Given the description of an element on the screen output the (x, y) to click on. 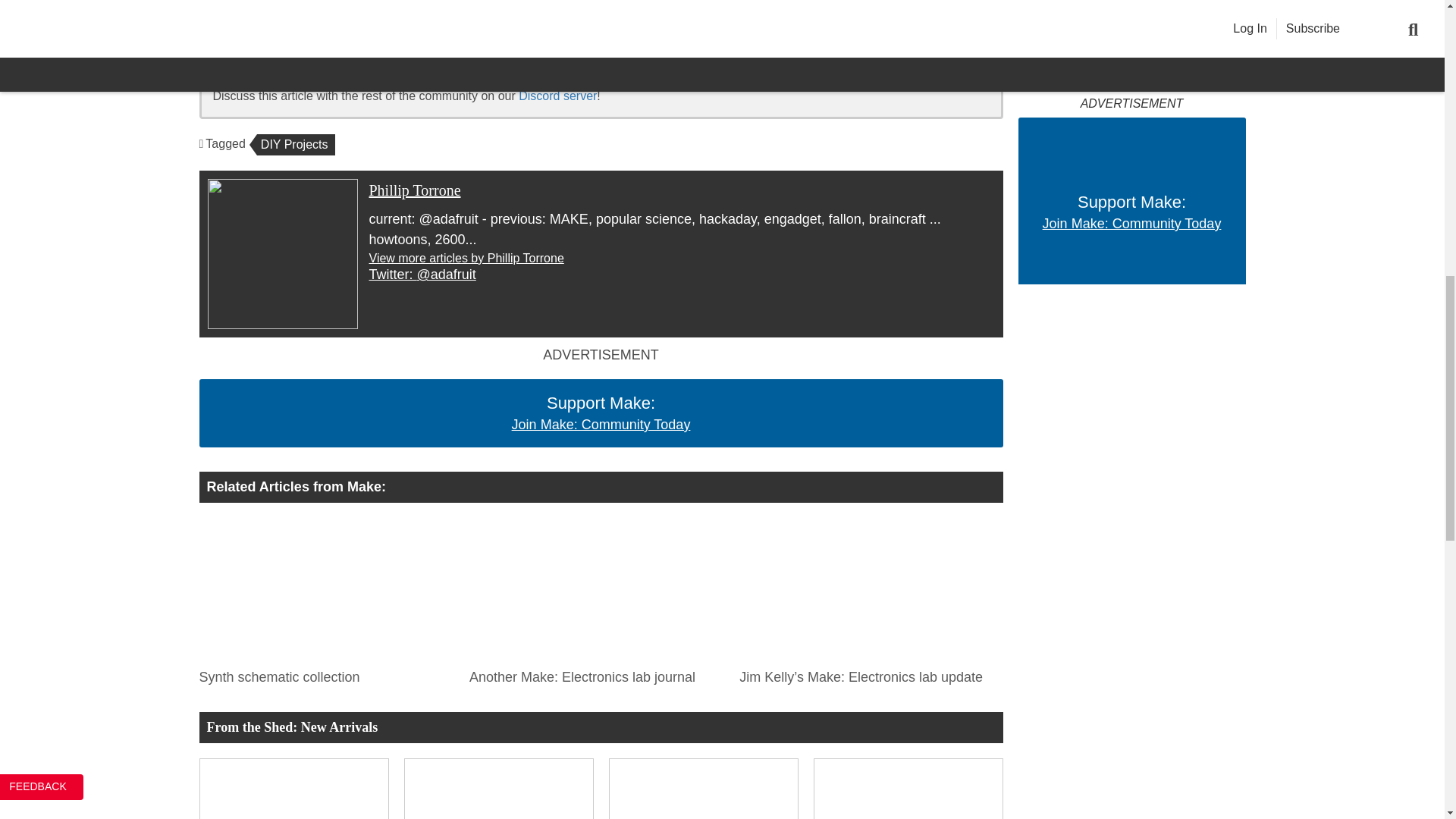
Another Make: Electronics lab journal (595, 589)
Synth schematic collection (325, 673)
Synth schematic collection (325, 589)
Another Make: Electronics lab journal (595, 673)
